Given the description of an element on the screen output the (x, y) to click on. 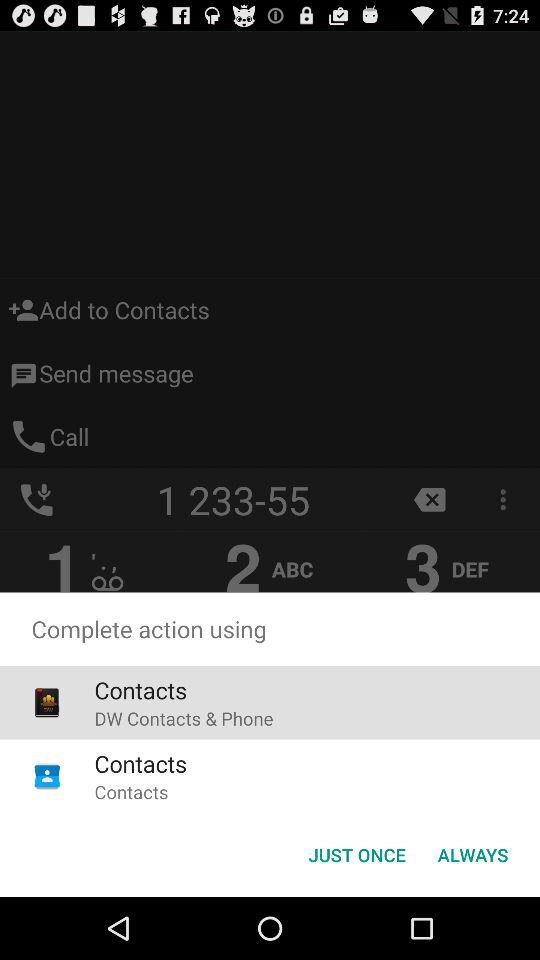
select the icon below complete action using app (356, 854)
